Given the description of an element on the screen output the (x, y) to click on. 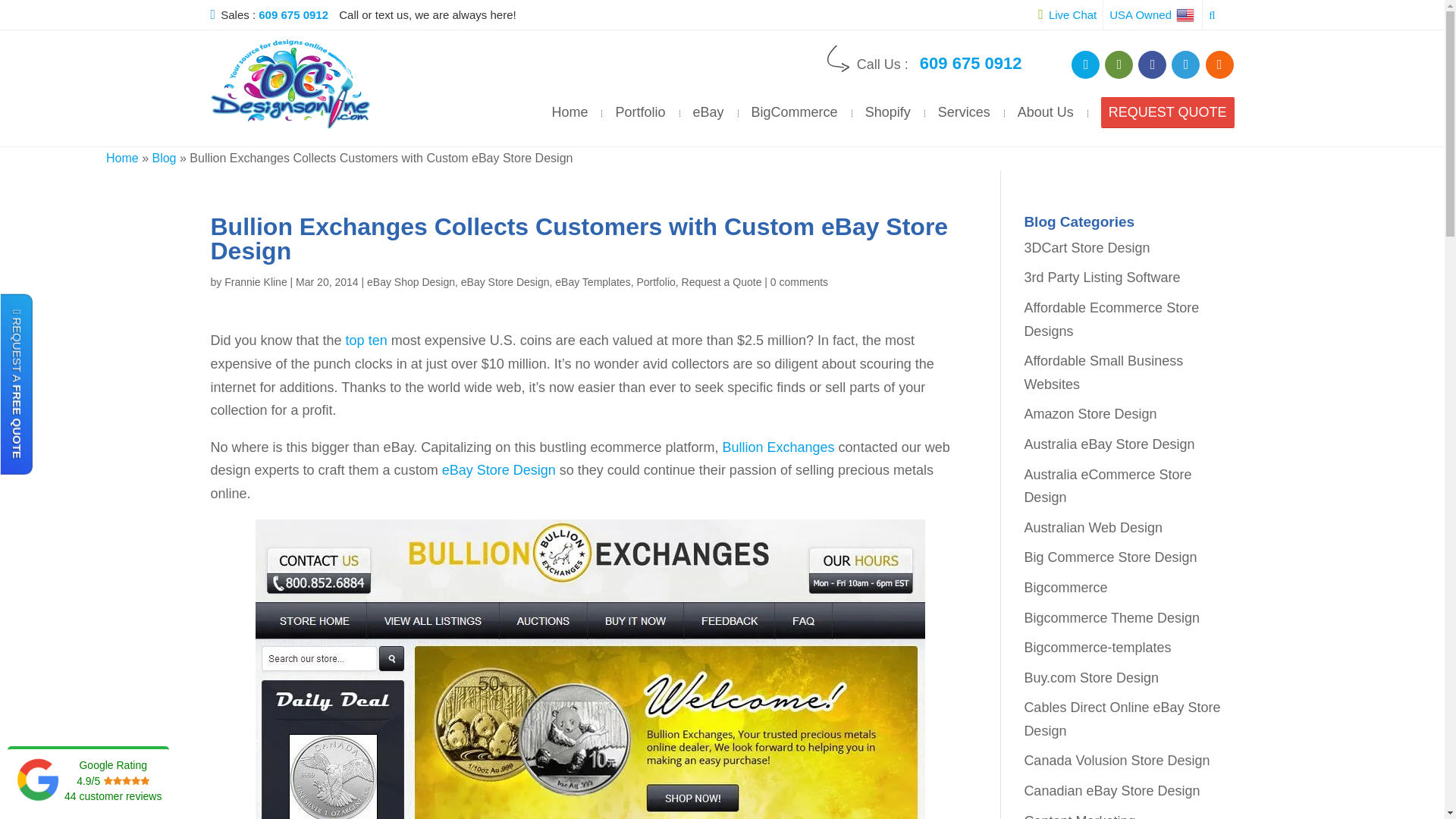
Live Chat (1067, 14)
Like us on facebook (1152, 64)
USA Owned (1152, 14)
Follow us on twitter (1185, 64)
Checkout our latest blog posts (1219, 64)
Custom eBay Store Design (499, 469)
609 675 0912 (970, 63)
609 675 0912 (297, 14)
Posts by Frannie Kline (255, 282)
Custom eBay Store Design (778, 447)
